Given the description of an element on the screen output the (x, y) to click on. 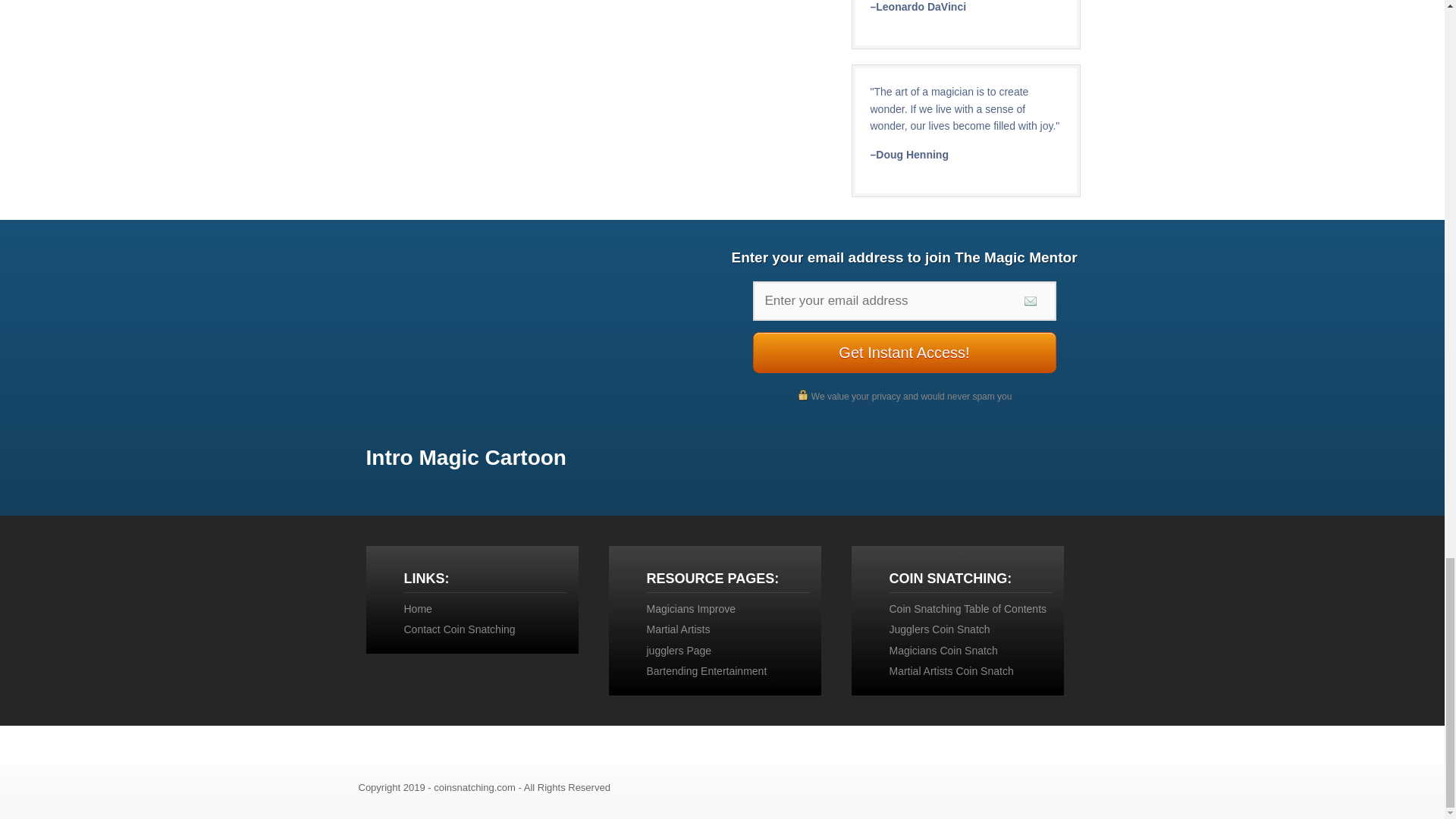
Jugglers Coin Snatch (939, 629)
Bartending Entertainment (706, 671)
Get Instant Access! (903, 352)
Magicians Coin Snatch (942, 650)
Coin Snatching Table of Contents (967, 608)
Home (416, 608)
Martial Artists Coin Snatch (950, 671)
Magicians Improve (690, 608)
Martial Artists (678, 629)
Contact Coin Snatching (459, 629)
